Given the description of an element on the screen output the (x, y) to click on. 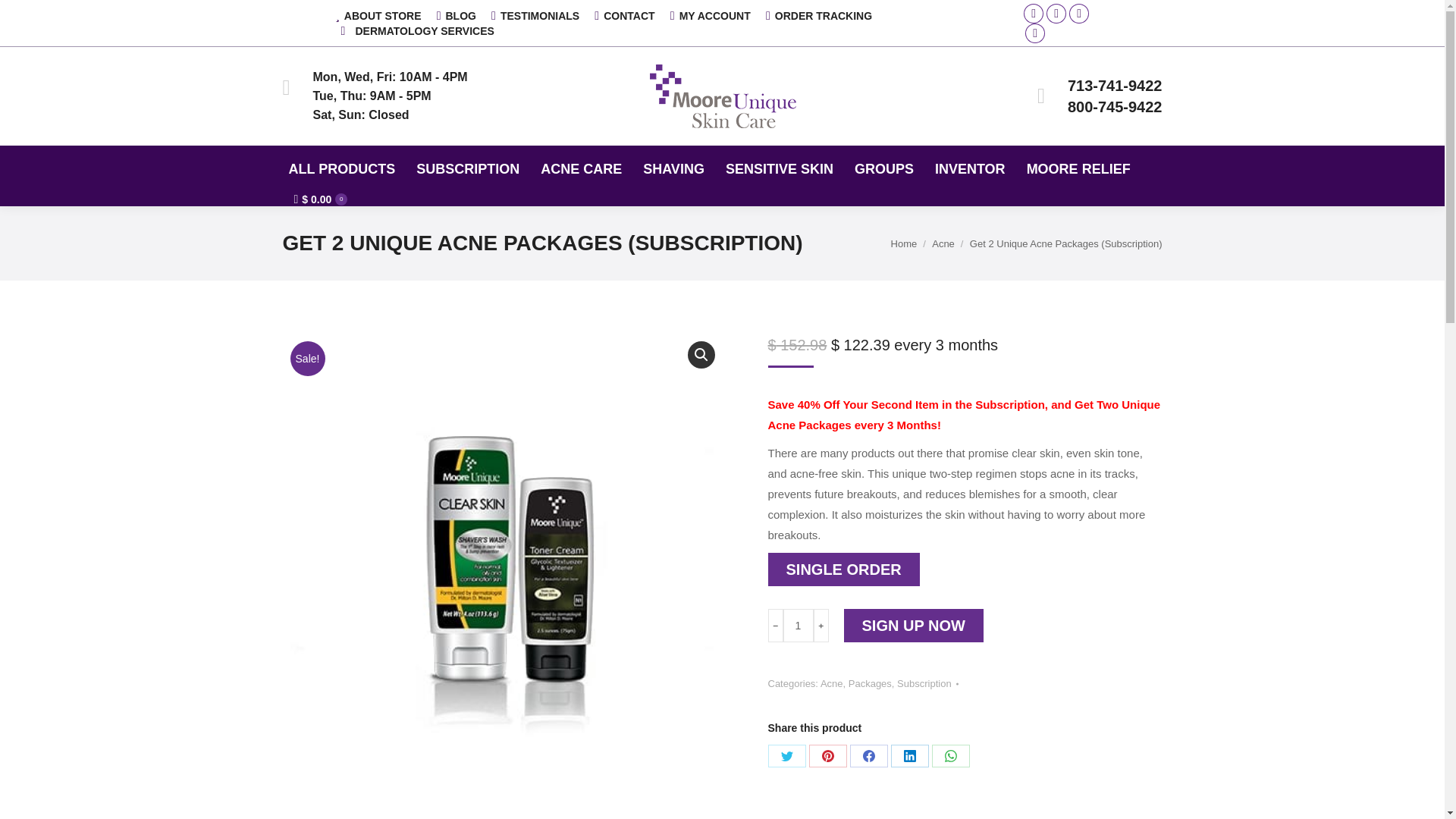
Twitter page opens in new window (1055, 13)
Twitter page opens in new window (1055, 13)
YouTube page opens in new window (1035, 33)
DERMATOLOGY SERVICES (413, 30)
YouTube page opens in new window (1035, 33)
ALL PRODUCTS (341, 168)
Home (904, 243)
Instagram page opens in new window (1078, 13)
CONTACT (623, 15)
Facebook page opens in new window (1033, 13)
SENSITIVE SKIN (779, 168)
INVENTOR (969, 168)
BLOG (456, 15)
MOORE RELIEF (1078, 168)
SUBSCRIPTION (467, 168)
